Given the description of an element on the screen output the (x, y) to click on. 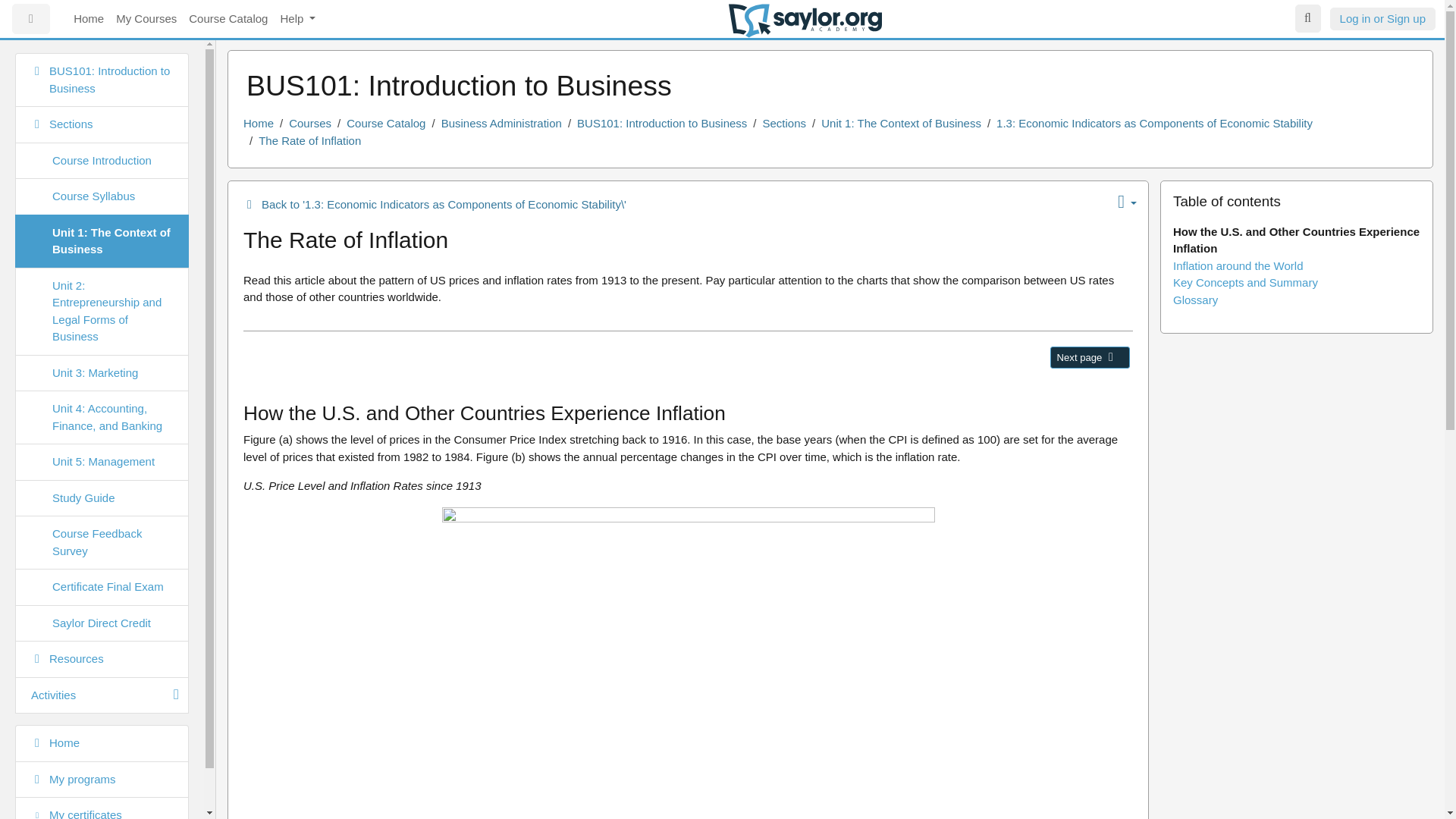
Activities (101, 694)
Course Syllabus (101, 196)
Certificate Final Exam (101, 587)
My programs (101, 779)
Resources (101, 659)
Home (258, 123)
Help (297, 19)
Saylor Direct Credit (101, 623)
Course Feedback Survey (101, 542)
Unit 2: Entrepreneurship and Legal Forms of Business (101, 310)
